Given the description of an element on the screen output the (x, y) to click on. 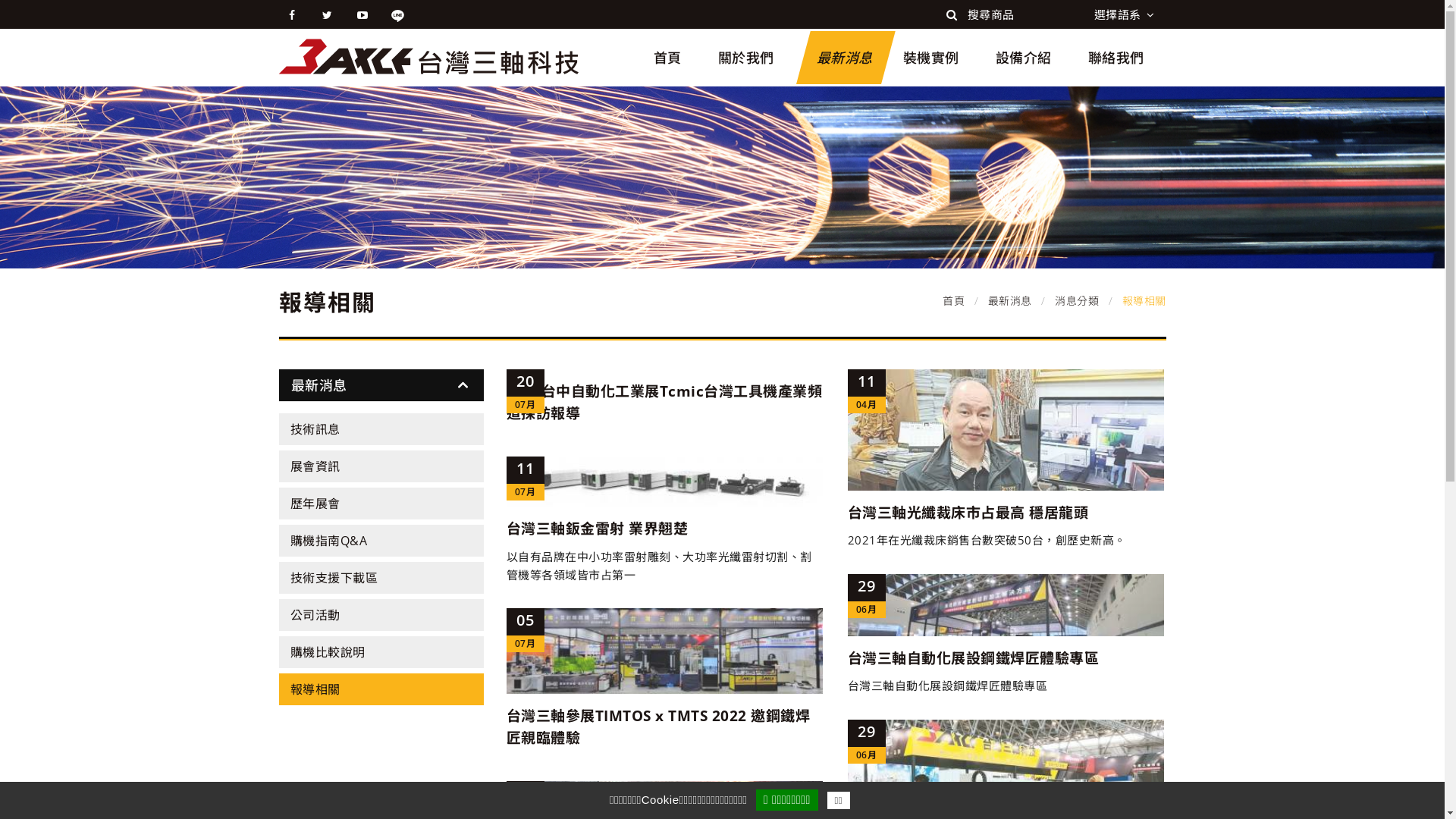
facebook Element type: hover (292, 14)
twitter Element type: hover (326, 14)
line Element type: hover (397, 14)
youtube Element type: hover (361, 14)
